Given the description of an element on the screen output the (x, y) to click on. 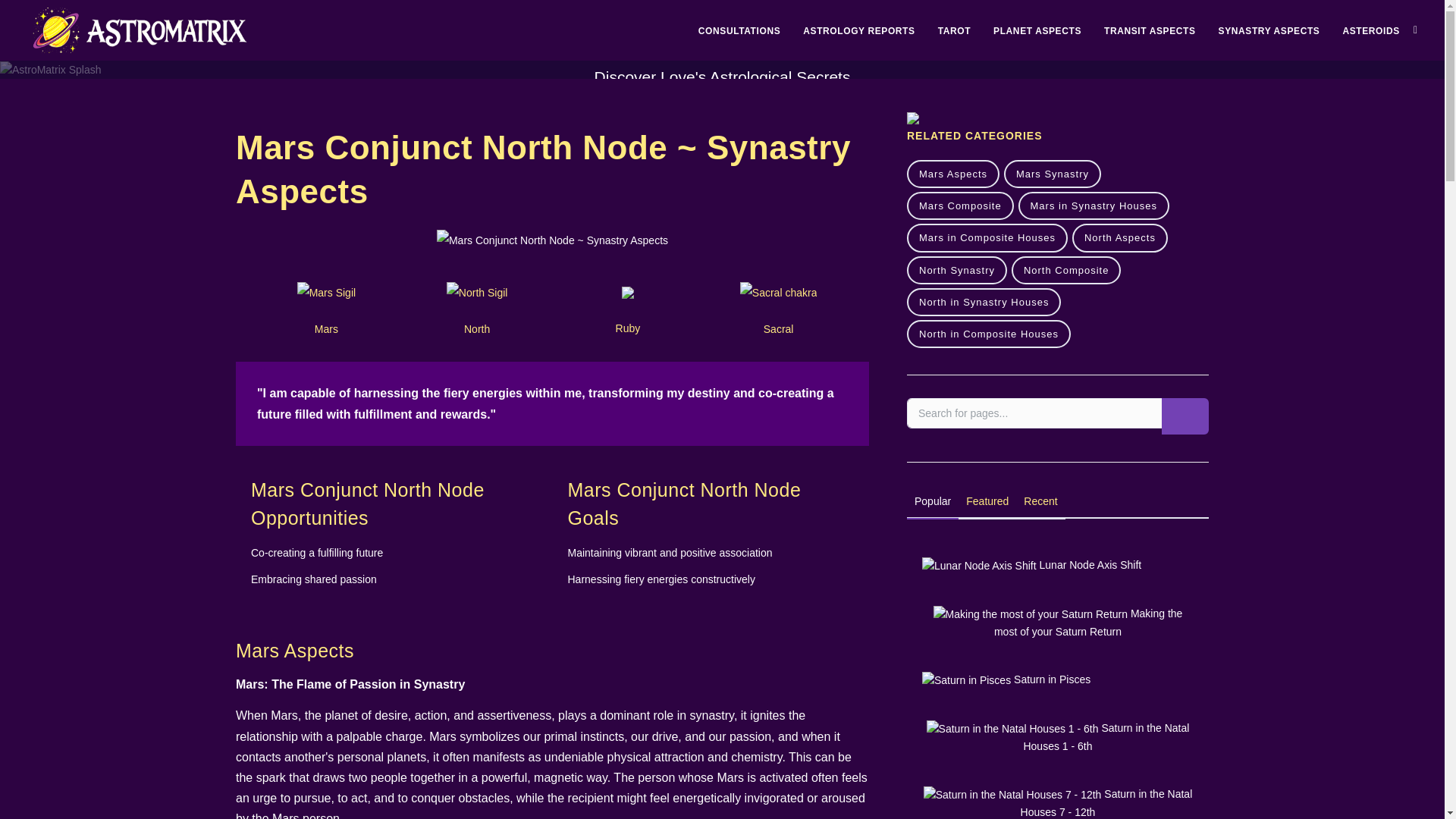
CONSULTATIONS (738, 31)
TAROT (953, 31)
ASTROLOGY REPORTS (858, 31)
SYNASTRY ASPECTS (1269, 31)
PLANET ASPECTS (1037, 31)
TRANSIT ASPECTS (1149, 31)
